Given the description of an element on the screen output the (x, y) to click on. 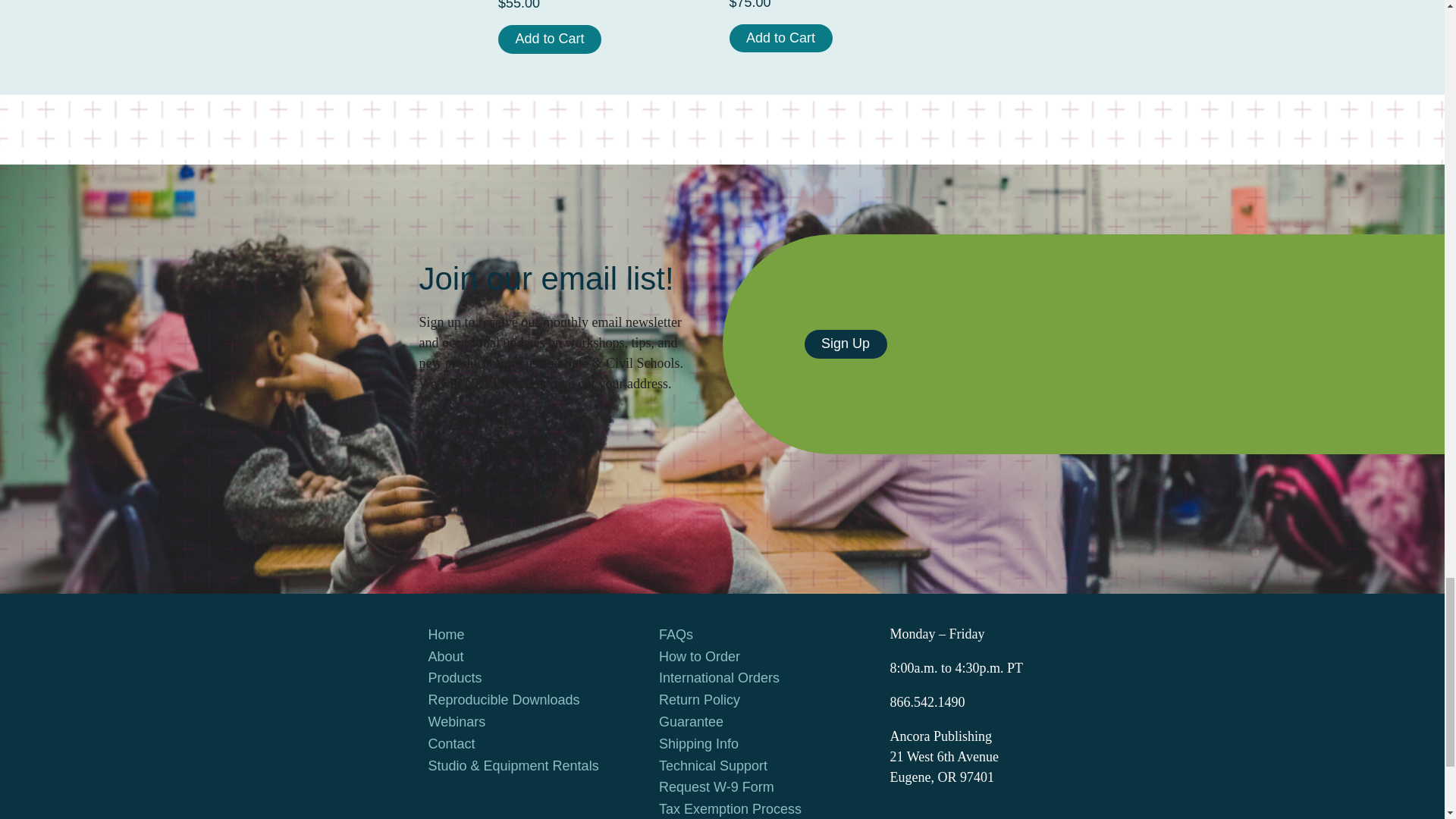
Add to Cart (549, 39)
